Given the description of an element on the screen output the (x, y) to click on. 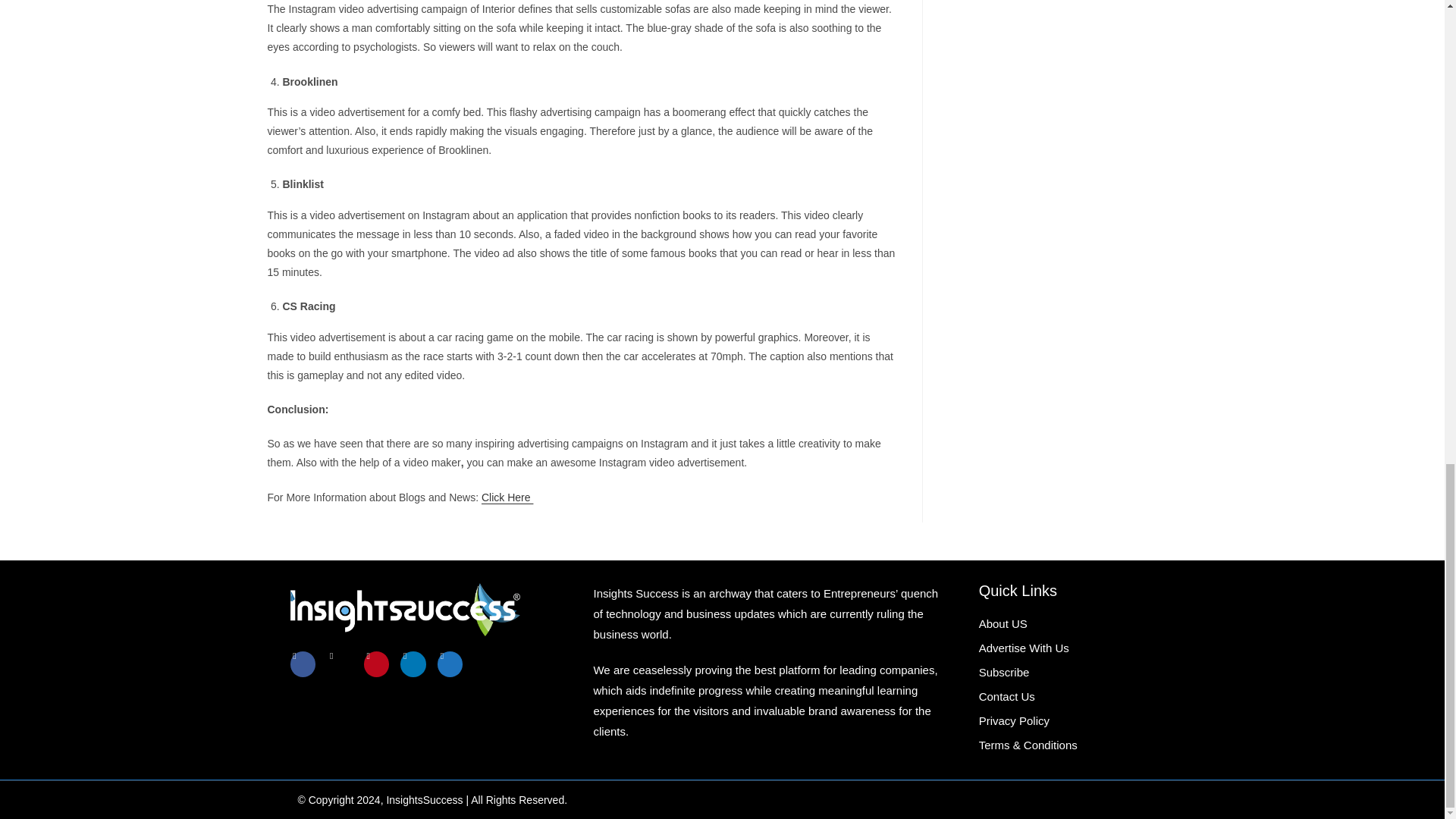
Click Here  (506, 497)
